Given the description of an element on the screen output the (x, y) to click on. 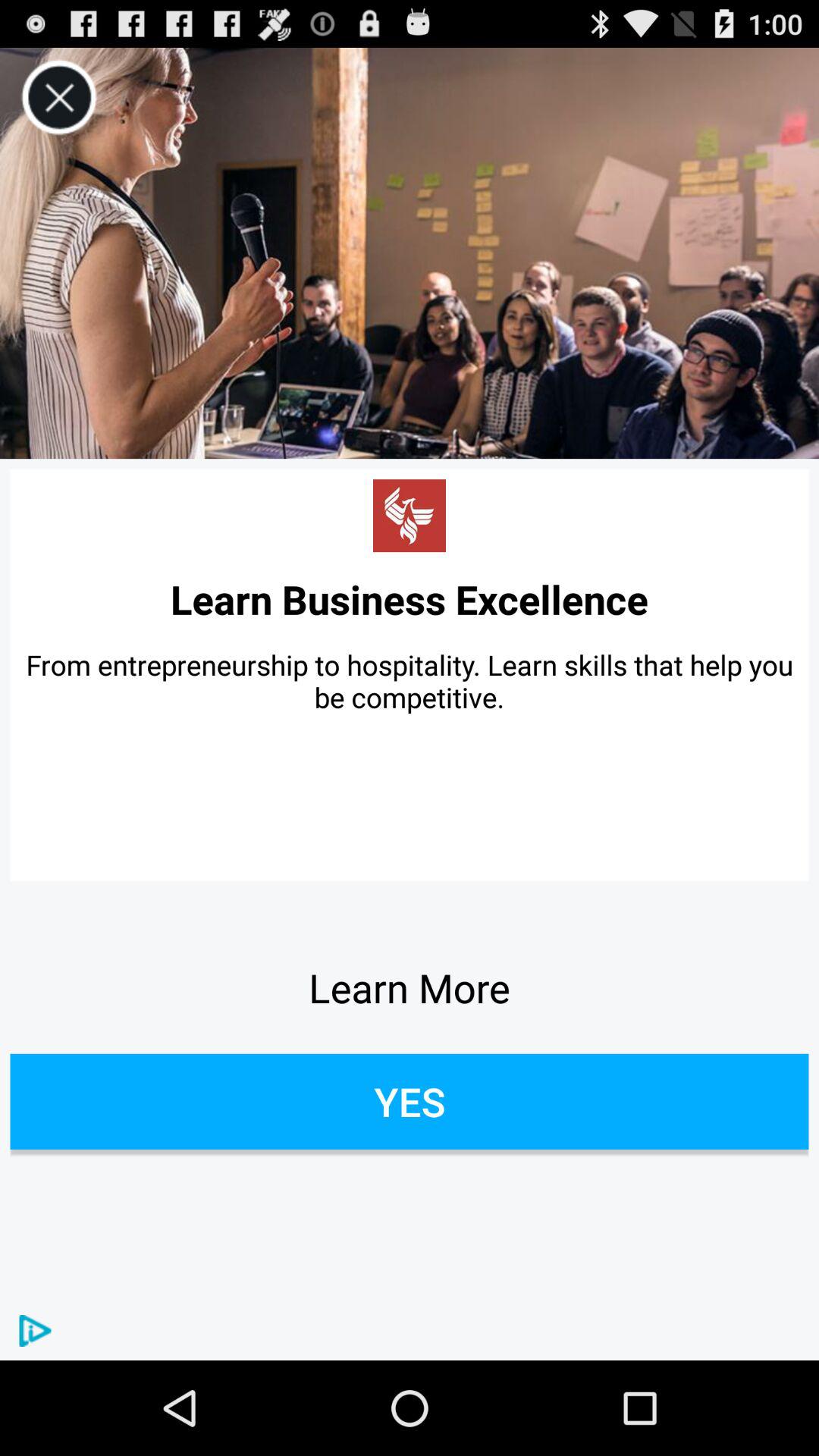
launch item below the learn more item (409, 1101)
